Given the description of an element on the screen output the (x, y) to click on. 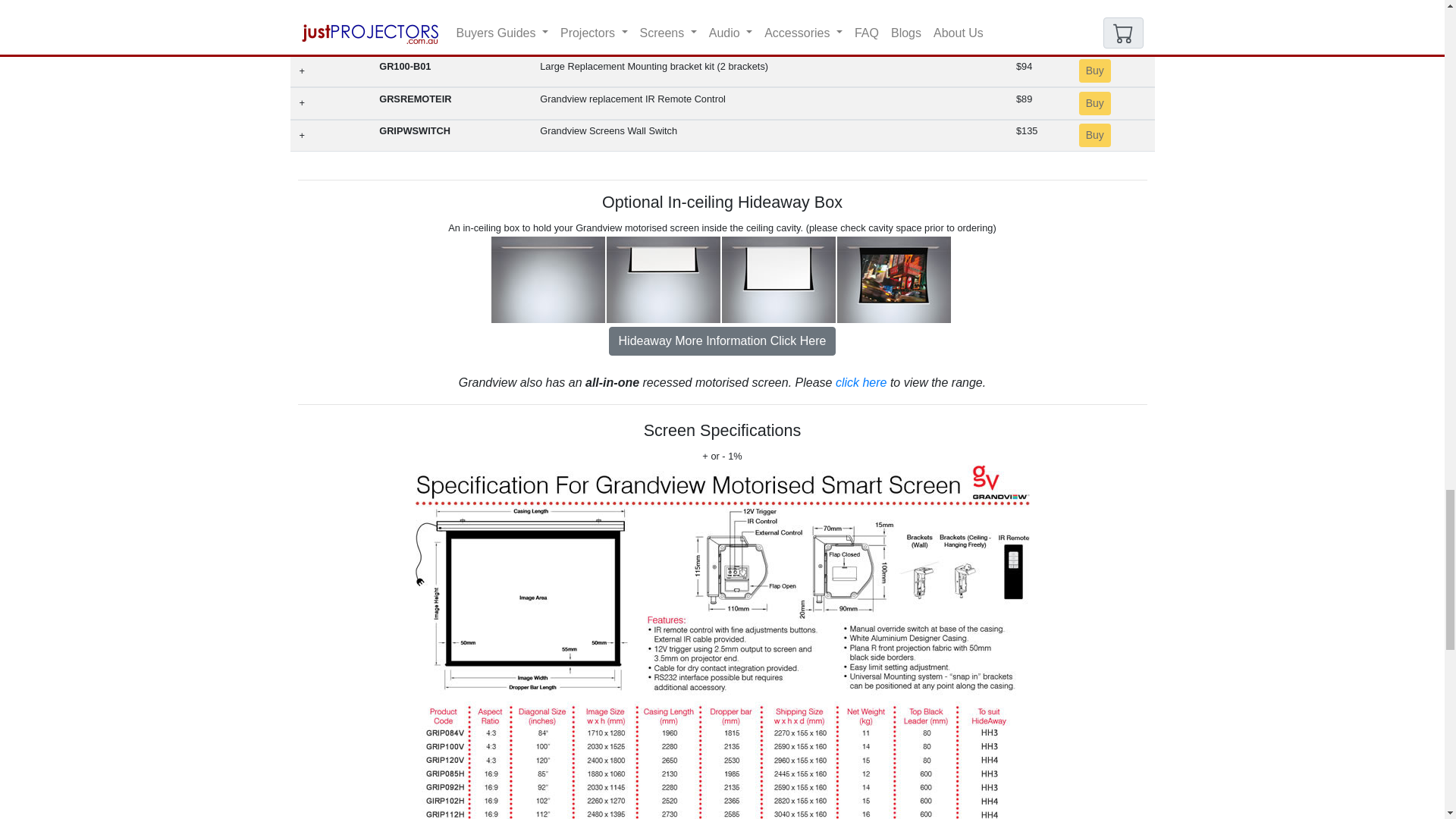
Buy (1094, 38)
Buy (1094, 70)
Buy (1094, 135)
Buy (1094, 103)
